Given the description of an element on the screen output the (x, y) to click on. 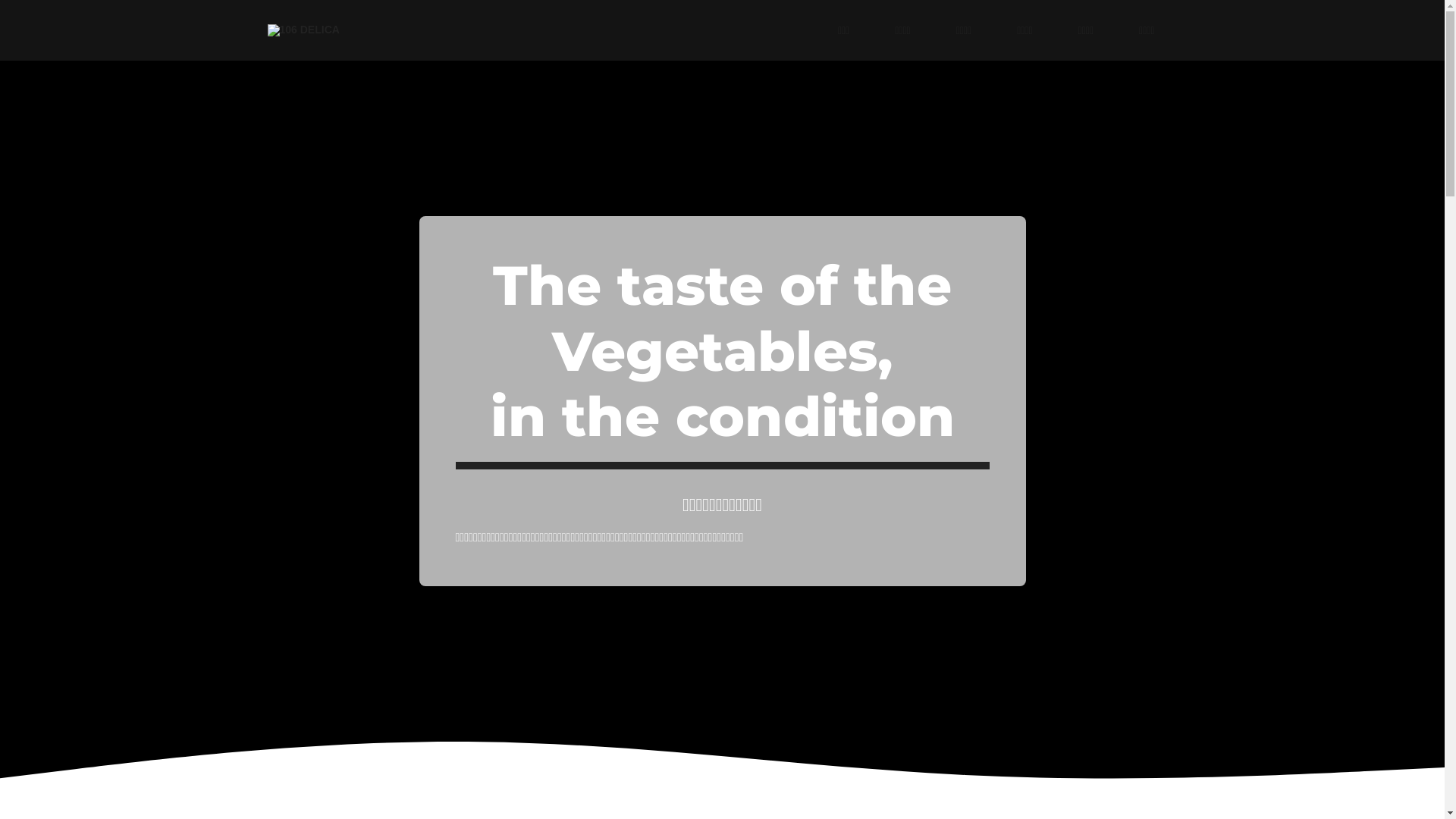
106 DELICA Element type: hover (302, 30)
